Given the description of an element on the screen output the (x, y) to click on. 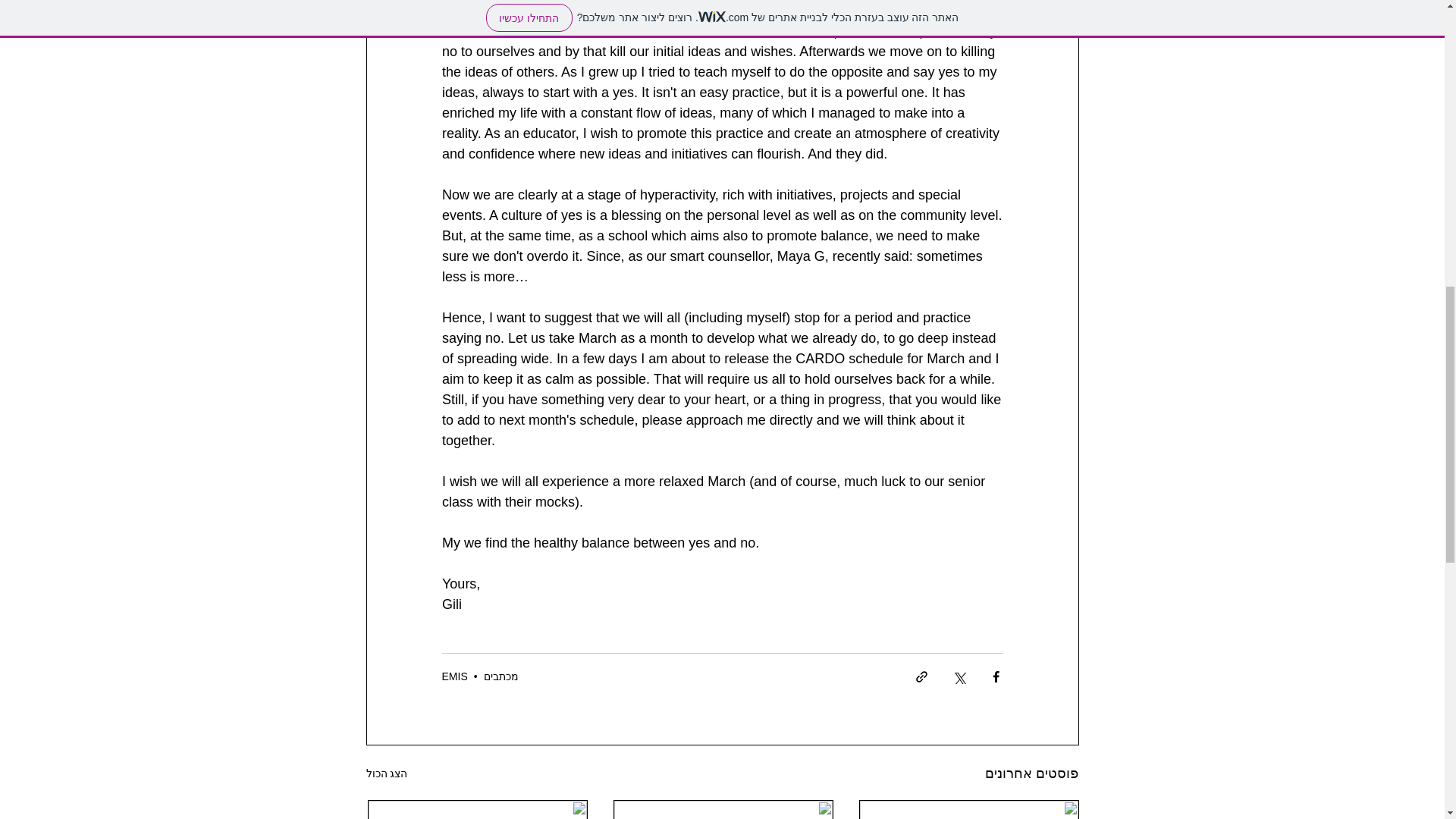
EMIS (454, 676)
